Given the description of an element on the screen output the (x, y) to click on. 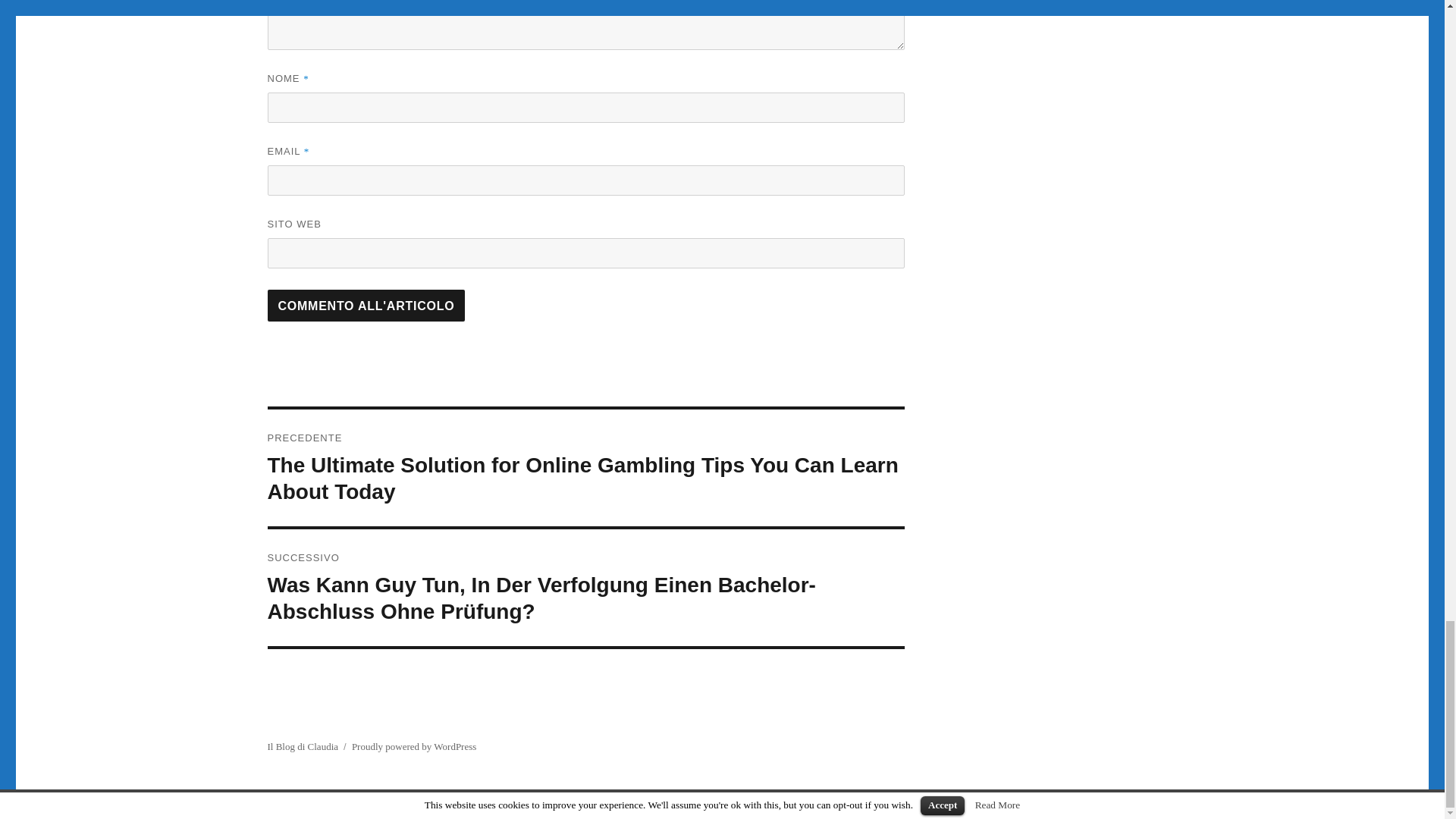
Commento all'articolo (365, 305)
Commento all'articolo (365, 305)
